Given the description of an element on the screen output the (x, y) to click on. 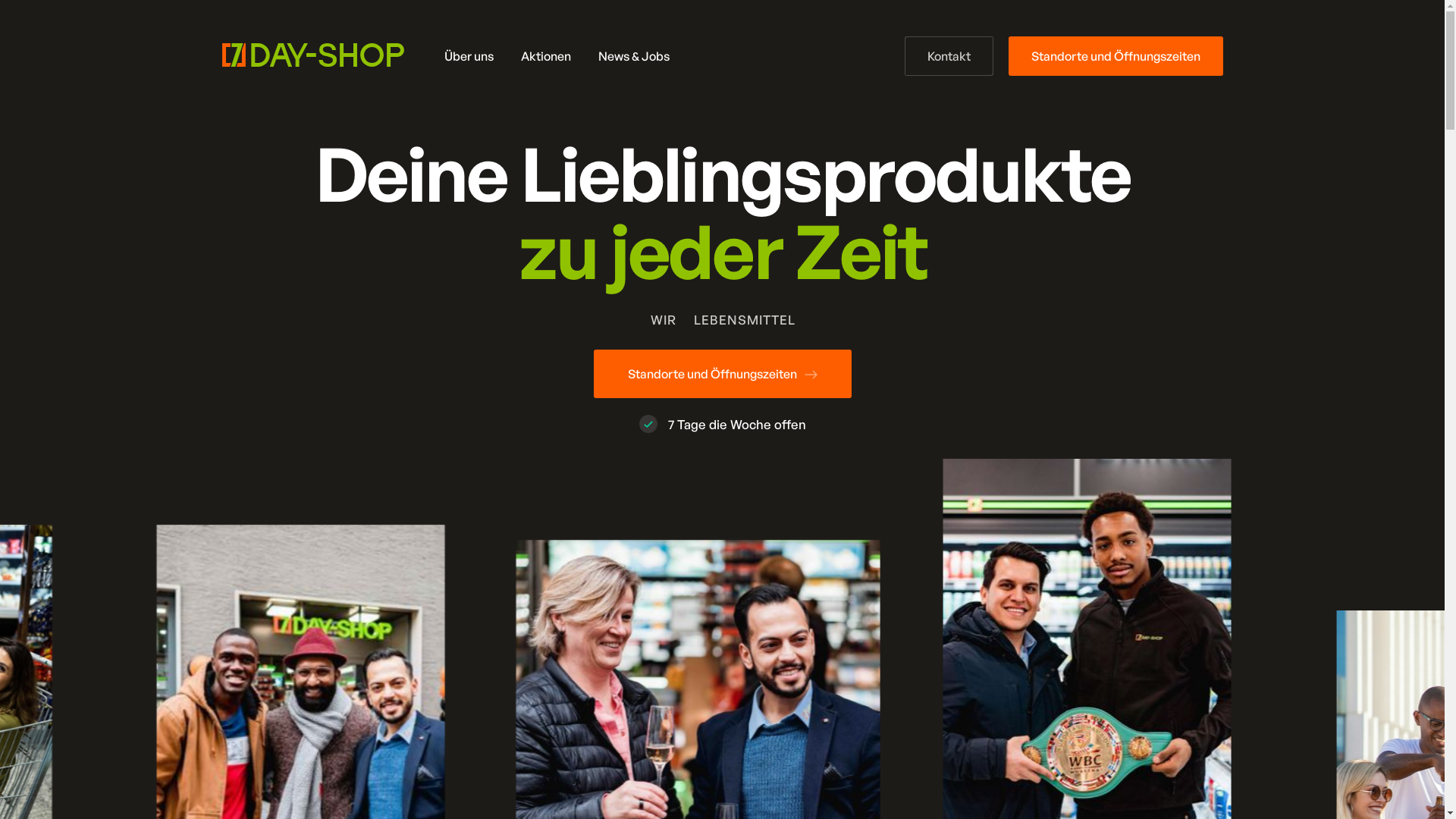
News & Jobs Element type: text (632, 55)
Aktionen Element type: text (544, 55)
Kontakt Element type: text (947, 55)
